Given the description of an element on the screen output the (x, y) to click on. 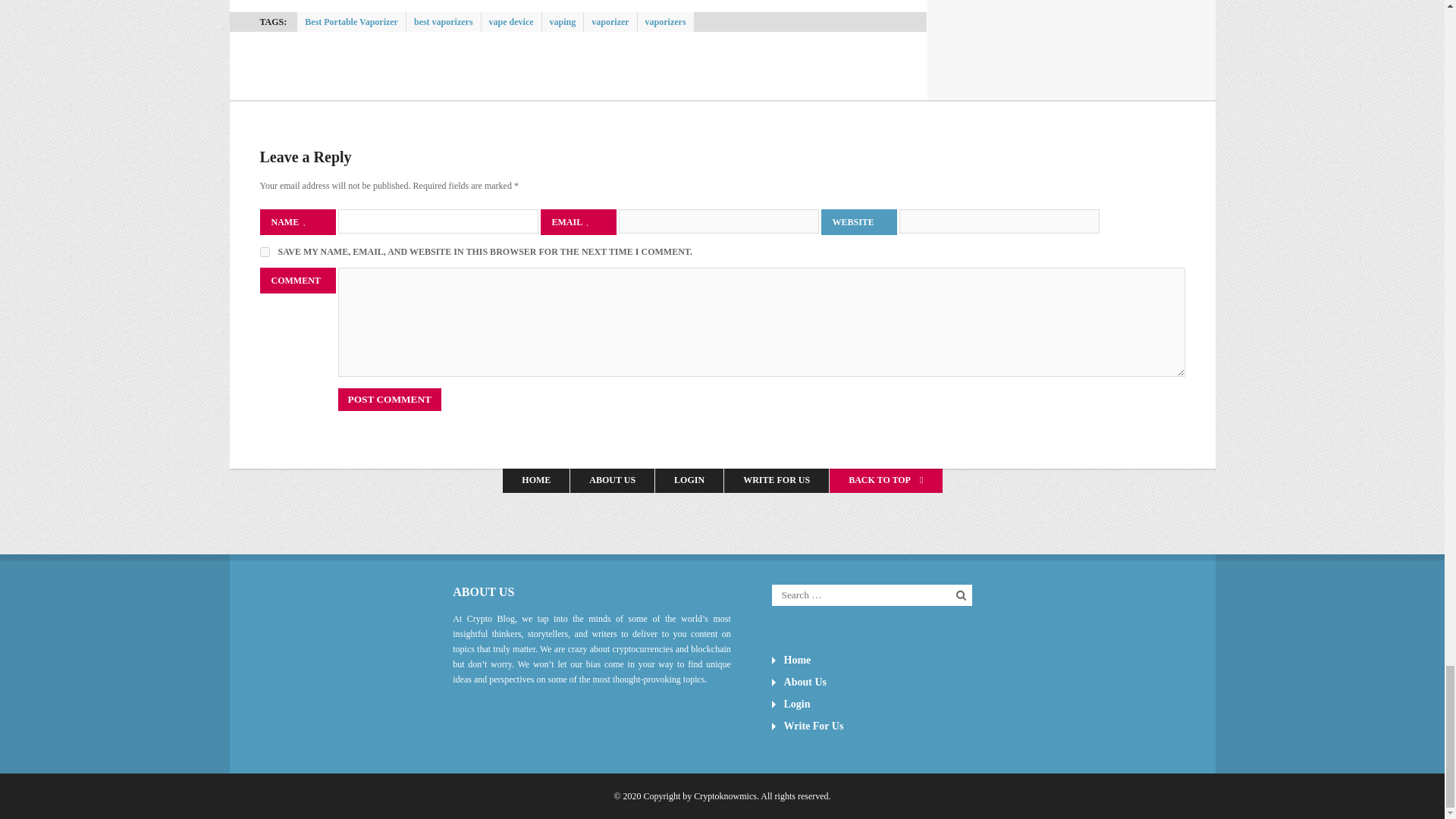
yes (264, 252)
Post Comment (389, 399)
Search (962, 594)
Search (962, 594)
